Given the description of an element on the screen output the (x, y) to click on. 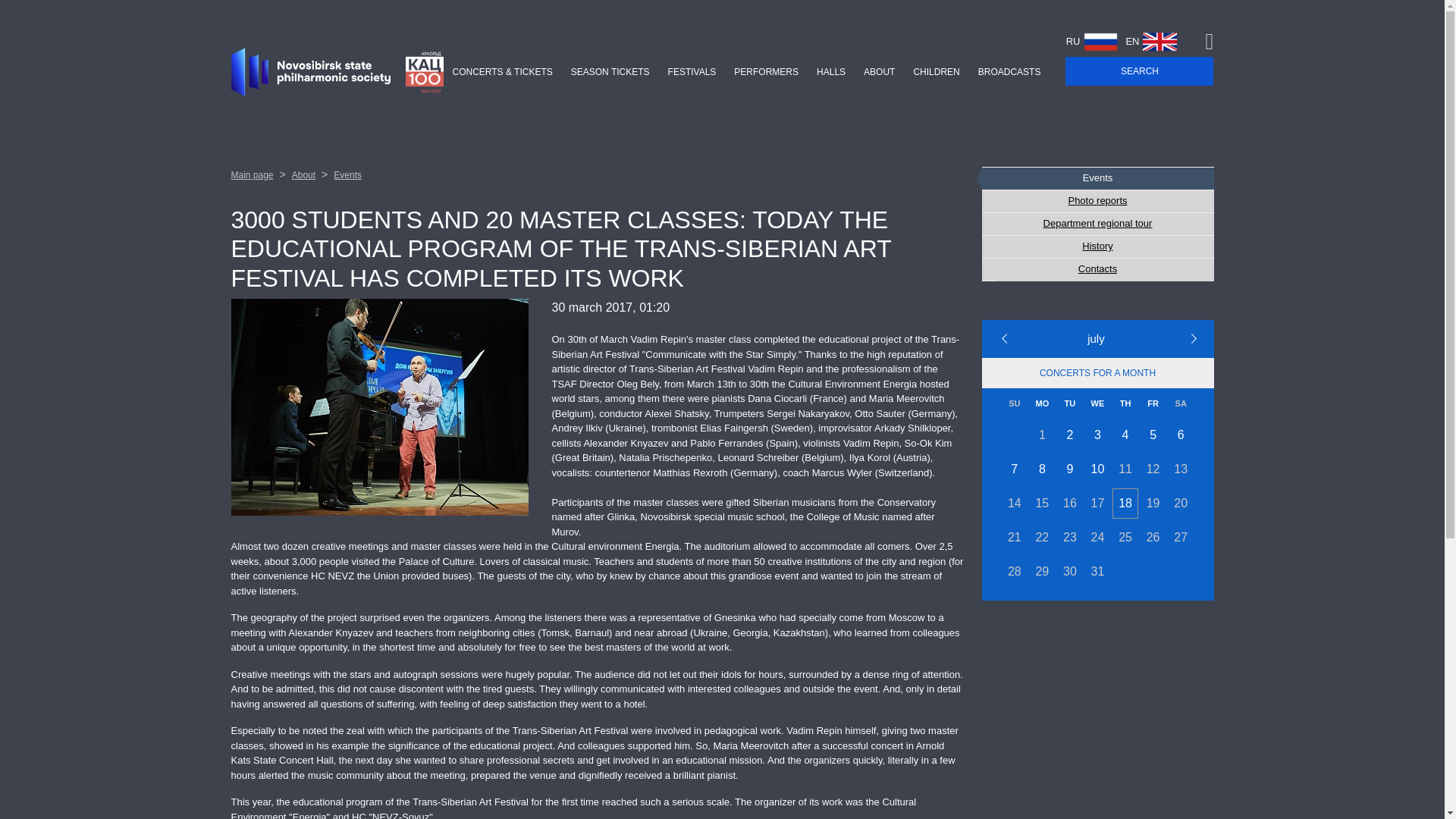
Main page (251, 174)
About (303, 174)
Events (347, 174)
Events (347, 174)
About (303, 174)
Department regional tour (1096, 223)
Photo reports (1096, 201)
CHILDREN (936, 71)
HALLS (831, 71)
BROADCASTS (1009, 71)
Events (1096, 178)
EN (1159, 41)
PERFORMERS (766, 71)
ABOUT (879, 71)
Main page (251, 174)
